Given the description of an element on the screen output the (x, y) to click on. 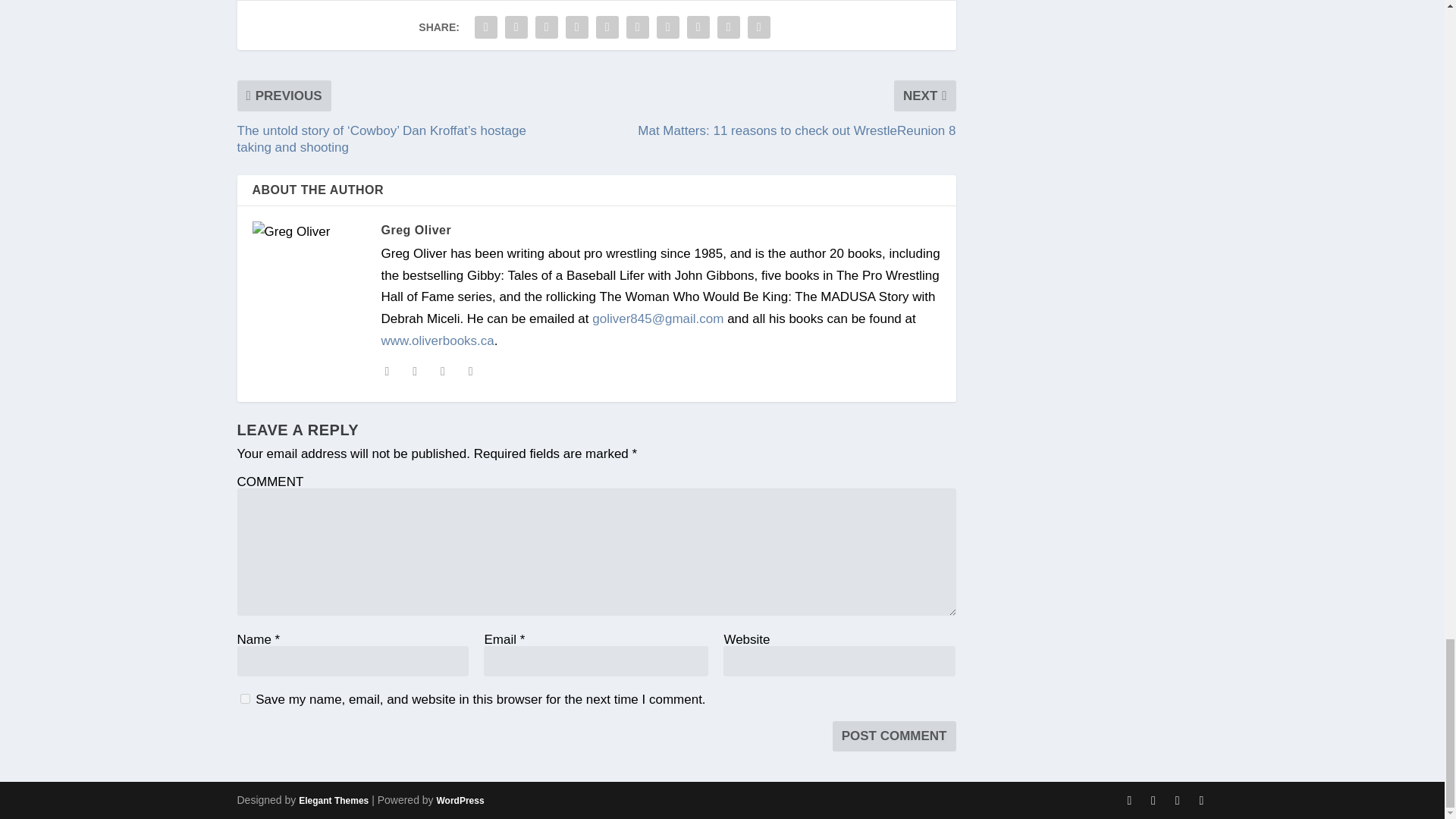
Post Comment (894, 736)
www.oliverbooks.ca (436, 340)
Premium WordPress Themes (333, 800)
Post Comment (894, 736)
